Given the description of an element on the screen output the (x, y) to click on. 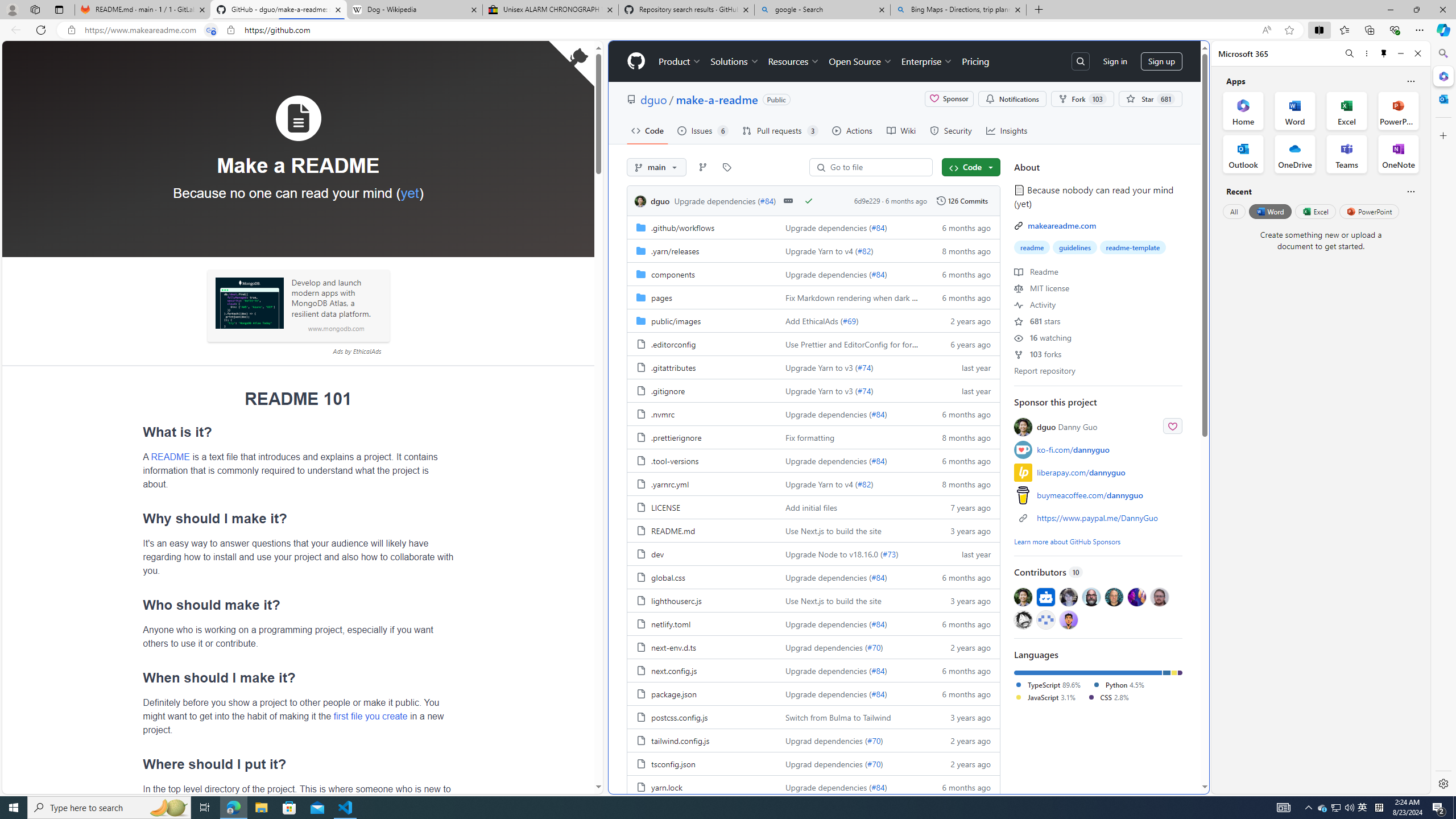
Upgrade Node to v18.16.0 (#73) (849, 553)
.gitattributes, (File) (672, 367)
make-a-readme (716, 99)
@paul-hammant (1113, 596)
Commit 6d9e229 (866, 200)
.yarnrc.yml, (File) (701, 483)
AutomationID: folder-row-24 (813, 786)
commits by dguo (659, 200)
LICENSE, (File) (701, 506)
Use Prettier and EditorConfig for formatting (849, 343)
Fix formatting (809, 437)
last year (961, 553)
Fix Markdown rendering when dark mode is on ( (870, 297)
@dguo (1022, 596)
